Given the description of an element on the screen output the (x, y) to click on. 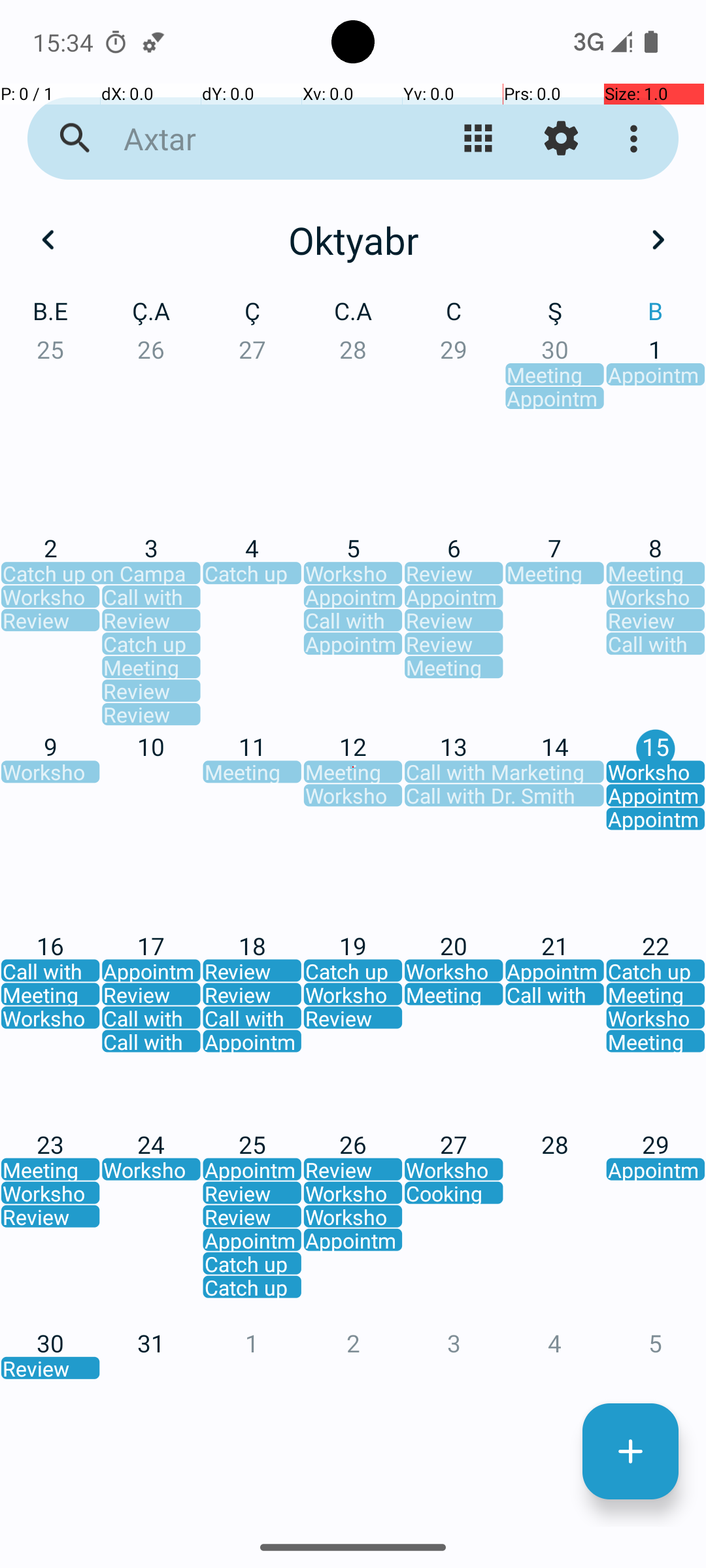
Axtar Element type: android.widget.EditText (252, 138)
Görünüşü dəyiş Element type: android.widget.Button (477, 138)
Digər seçimlər Element type: android.widget.ImageView (636, 138)
Yeni Hadisə Element type: android.widget.ImageButton (630, 1451)
Oktyabr Element type: android.widget.TextView (352, 239)
